Given the description of an element on the screen output the (x, y) to click on. 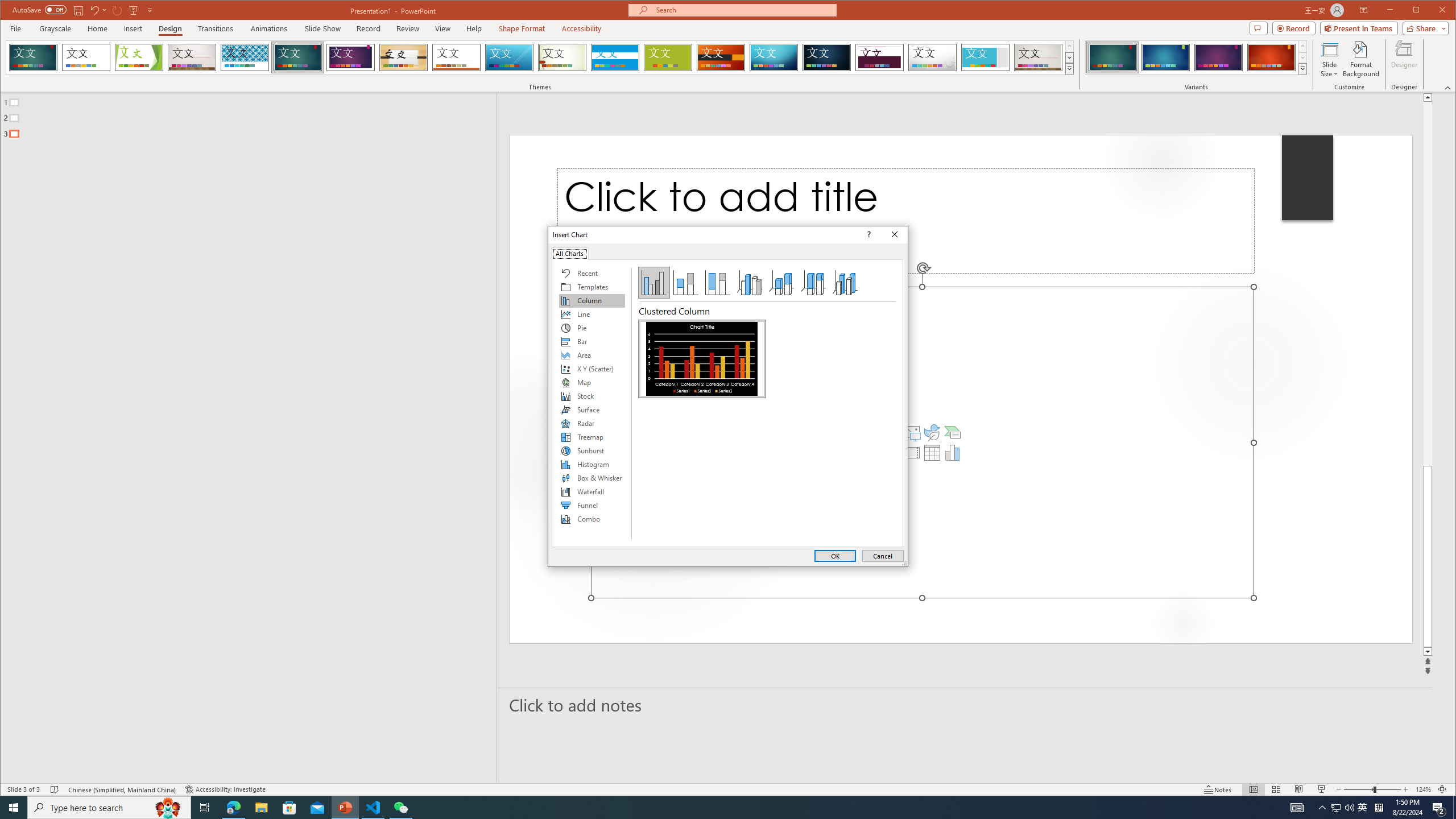
Treemap (591, 436)
WeChat - 1 running window (400, 807)
Insert a SmartArt Graphic (952, 432)
Integral (244, 57)
Format Background (1360, 59)
Context help (867, 234)
Circuit (773, 57)
